Given the description of an element on the screen output the (x, y) to click on. 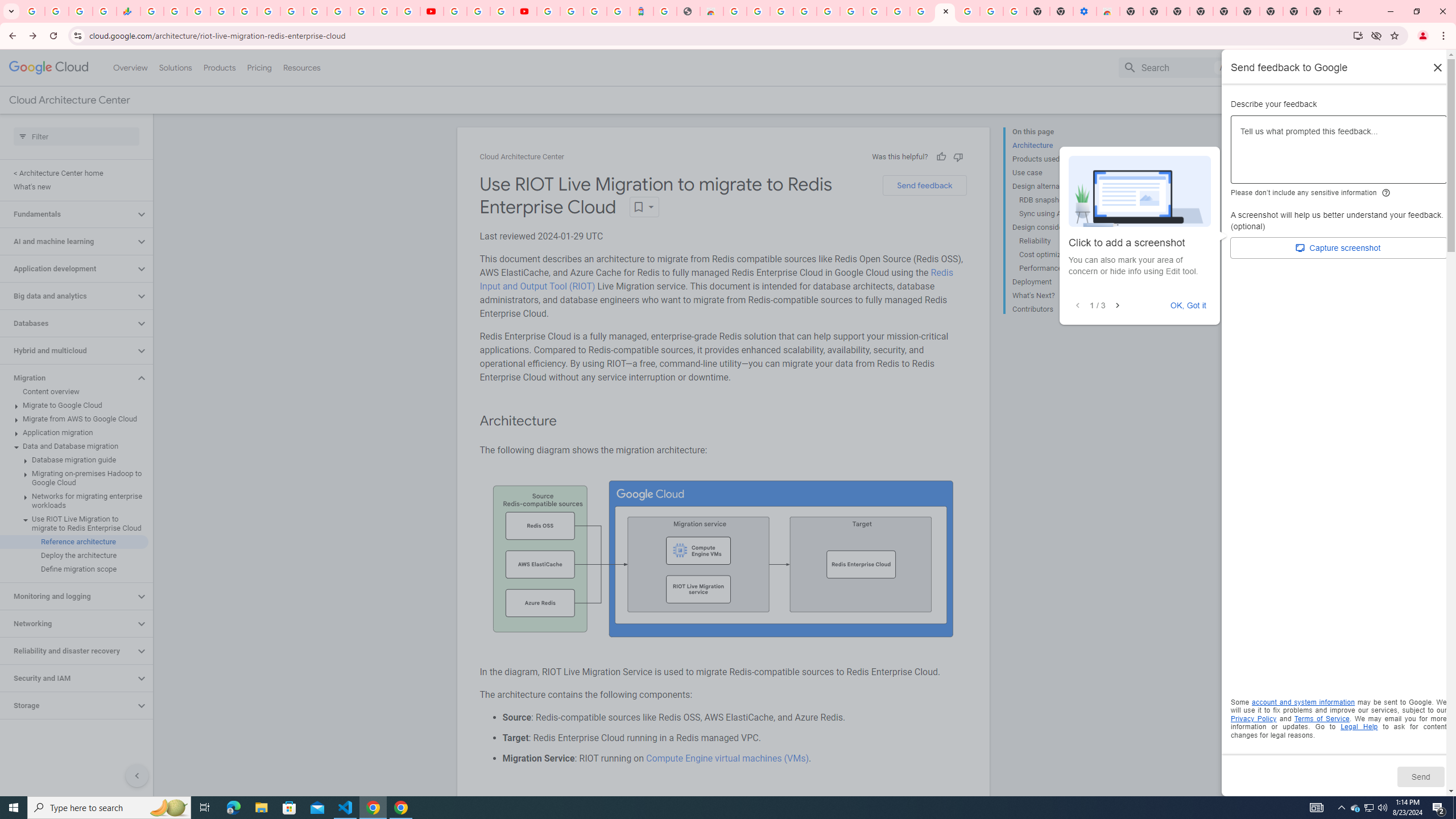
Deployment (1058, 282)
Networking (67, 623)
Support (1296, 67)
YouTube (454, 11)
Next (1117, 305)
Application development (67, 269)
Previous (1077, 305)
Reliability and disaster recovery (67, 650)
< Architecture Center home (74, 173)
Google Workspace Admin Community (32, 11)
New Tab (1318, 11)
Data and Database migration (74, 445)
Sign in - Google Accounts (968, 11)
